Given the description of an element on the screen output the (x, y) to click on. 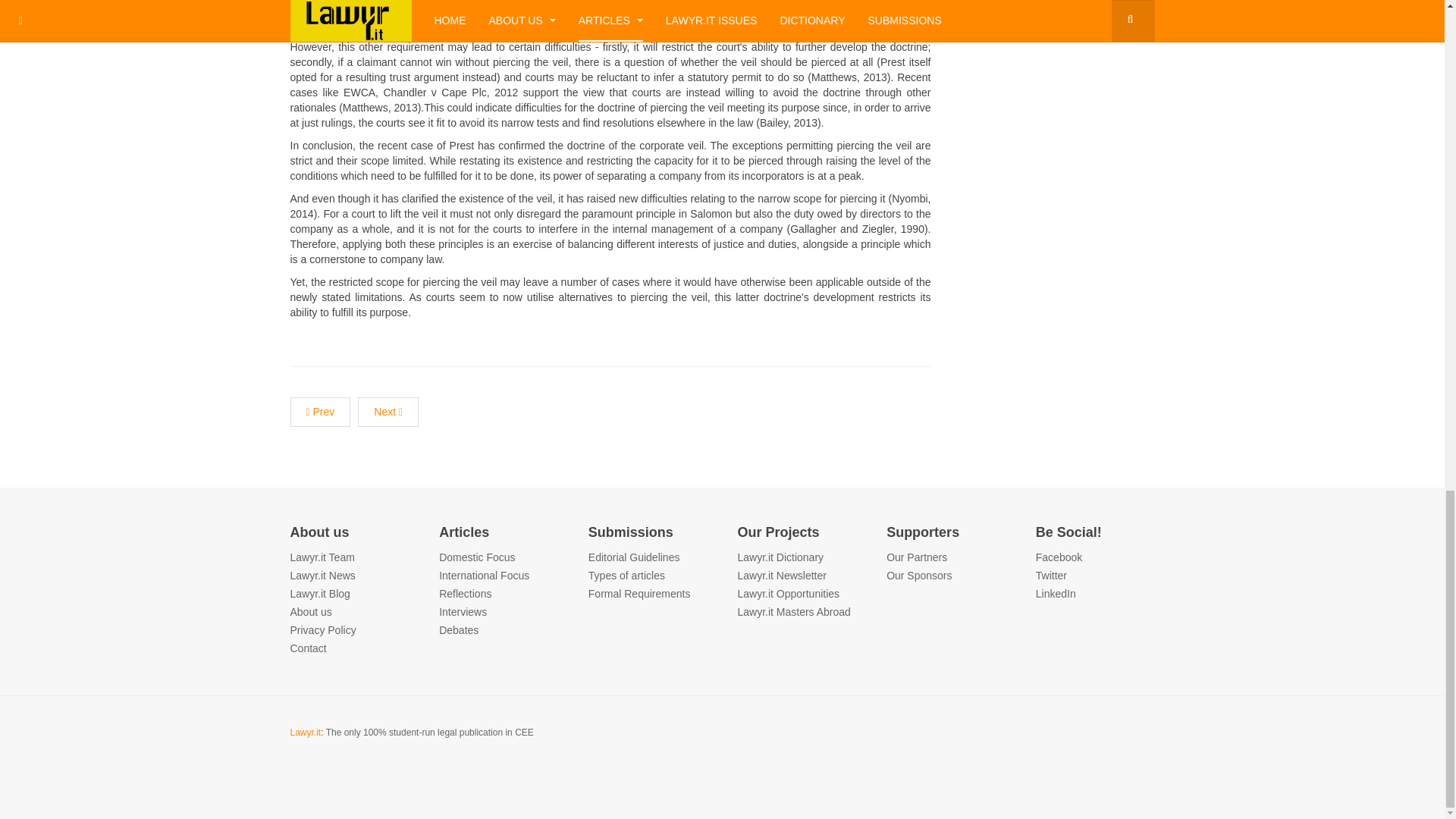
Joomla plugin (310, 612)
Joomla template (321, 557)
Joomla 3 template (307, 648)
Joomla extension (322, 575)
T3 template (477, 557)
